Given the description of an element on the screen output the (x, y) to click on. 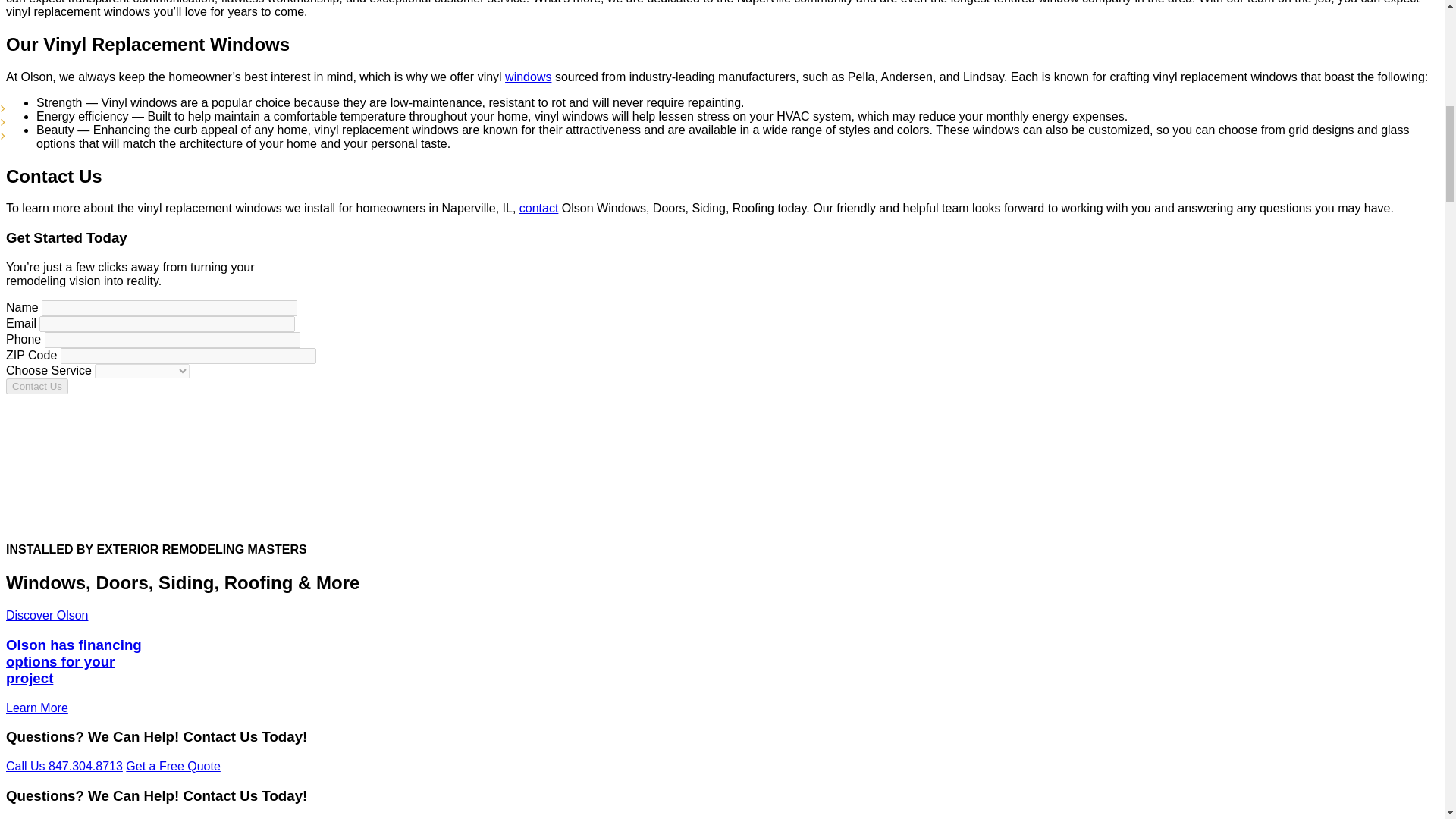
Contact Us (36, 385)
